Given the description of an element on the screen output the (x, y) to click on. 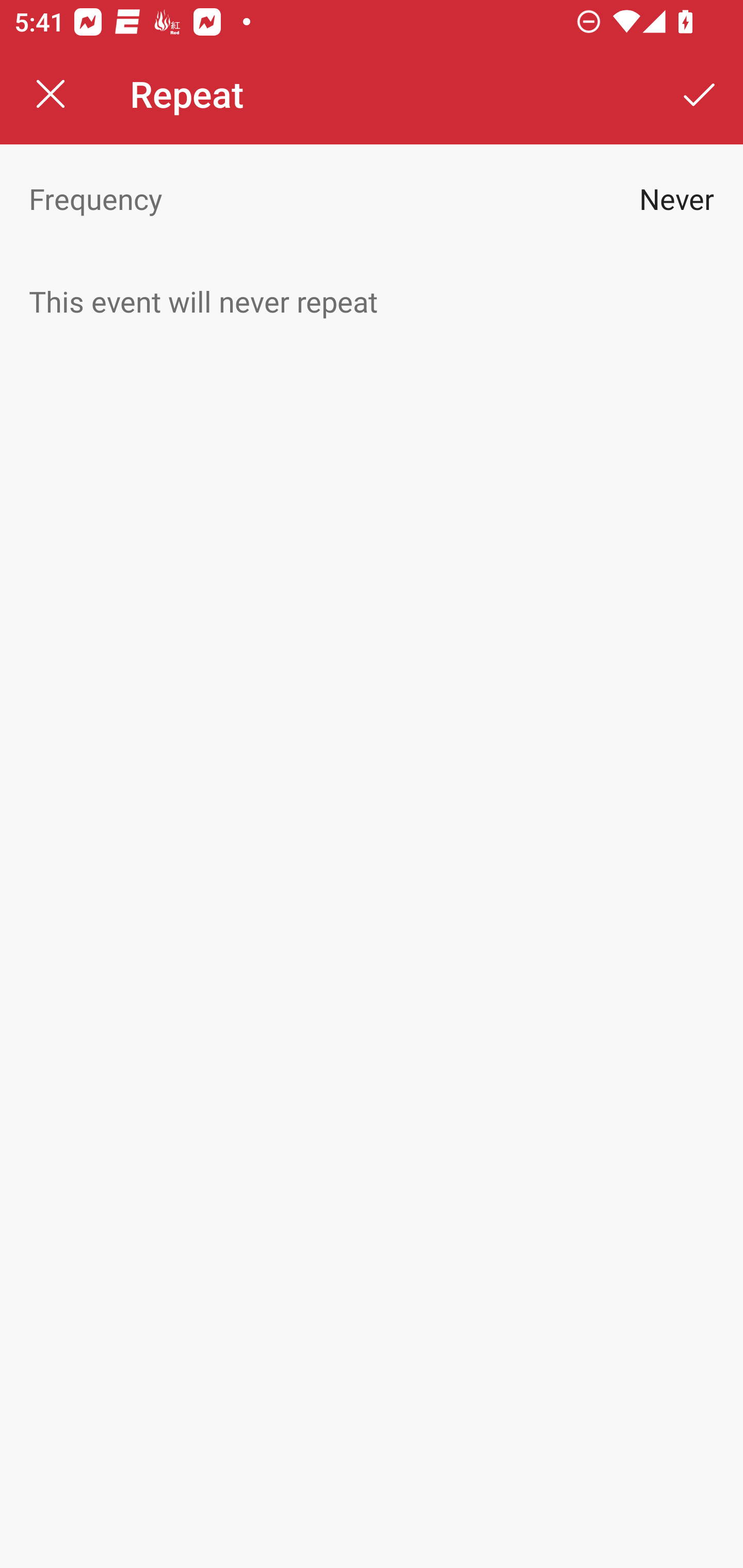
Close (50, 93)
Save (699, 93)
Frequency Never (371, 198)
